Given the description of an element on the screen output the (x, y) to click on. 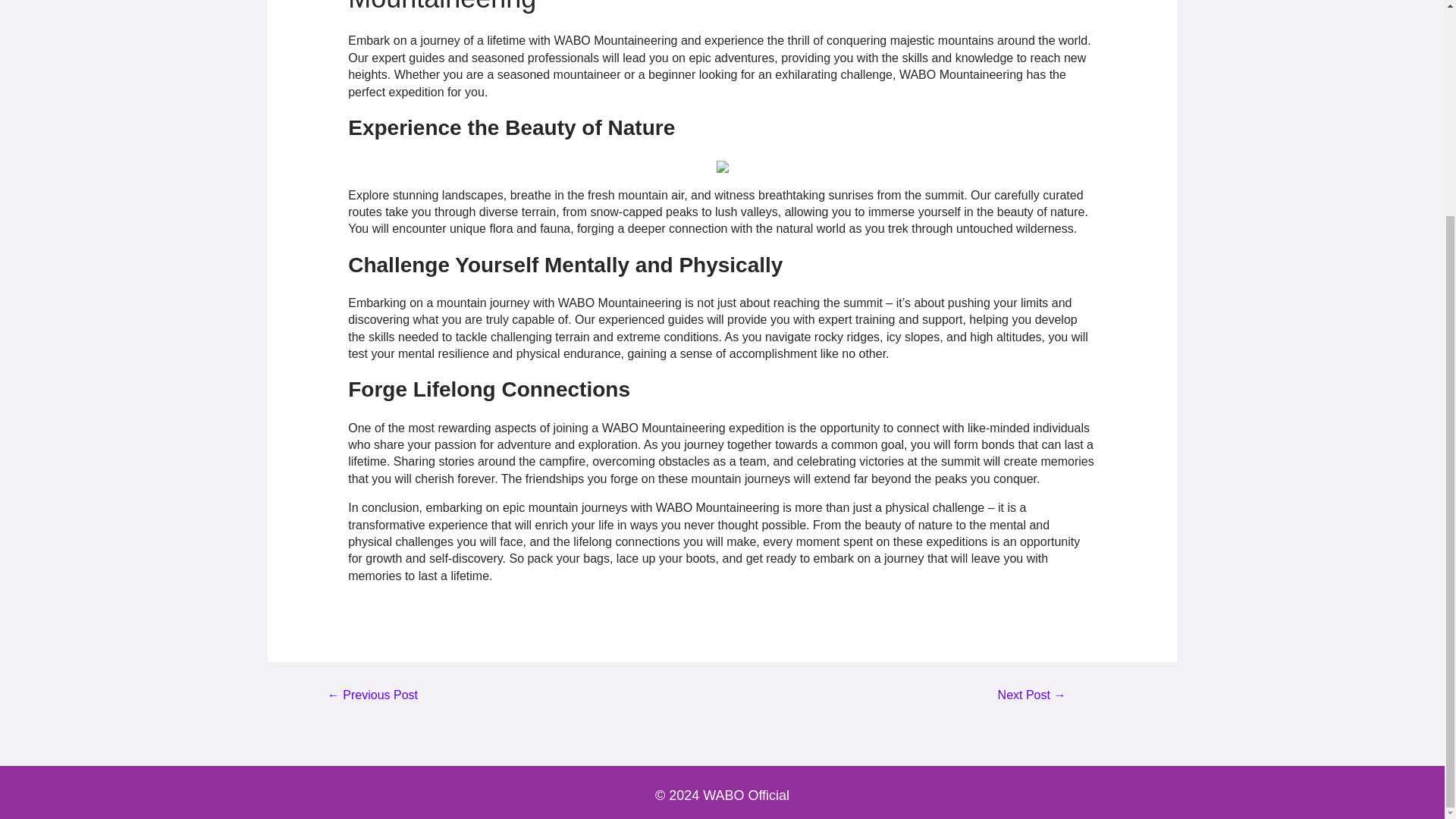
Embody Fearless Freedom with WABO Skiing (1031, 701)
Embark on an Underwater Journey with WABO Diving (371, 701)
